Given the description of an element on the screen output the (x, y) to click on. 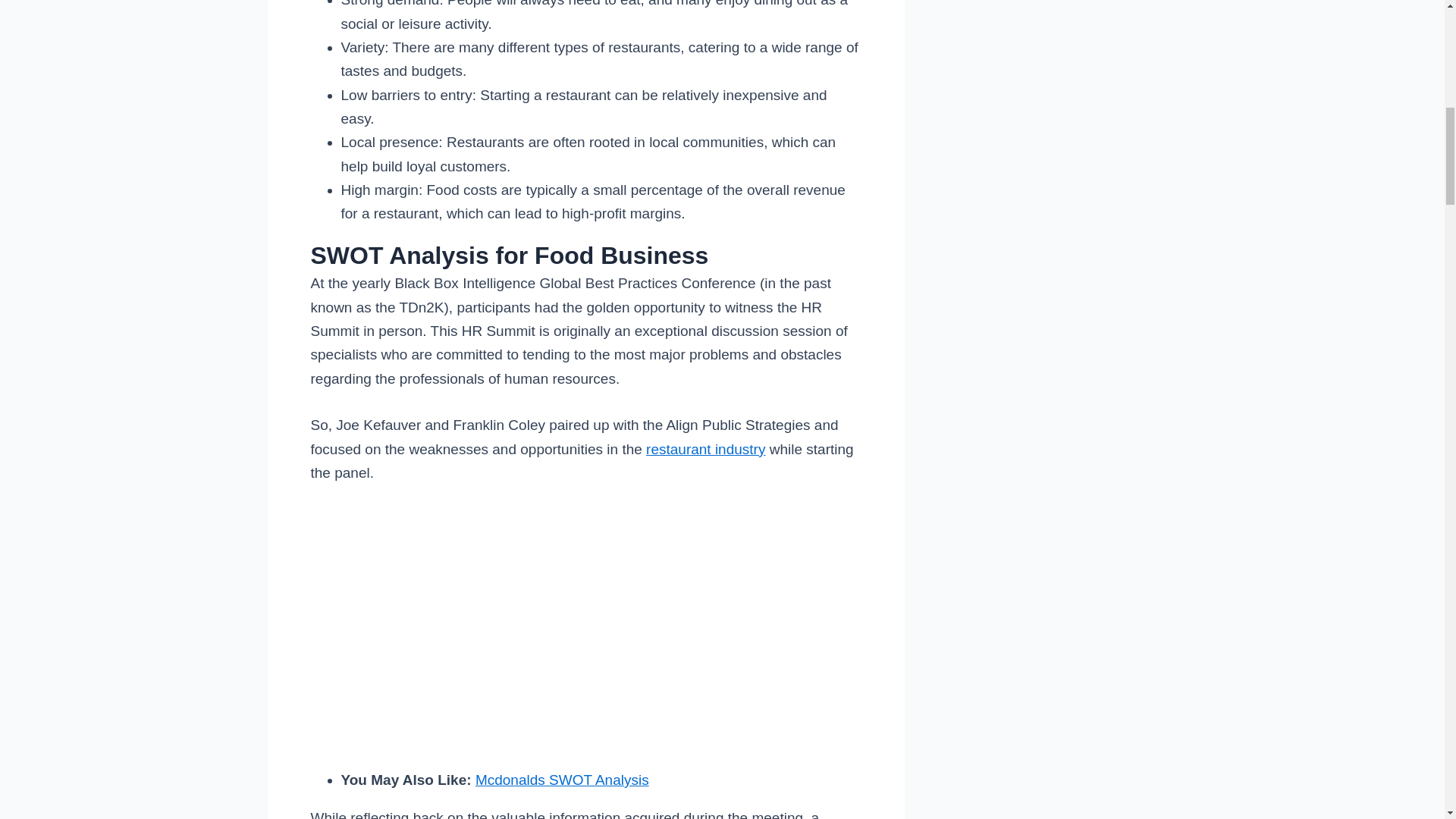
YouTube video player (523, 626)
Mcdonalds SWOT Analysis (562, 779)
Industry Overview: Restaurant (705, 449)
